Given the description of an element on the screen output the (x, y) to click on. 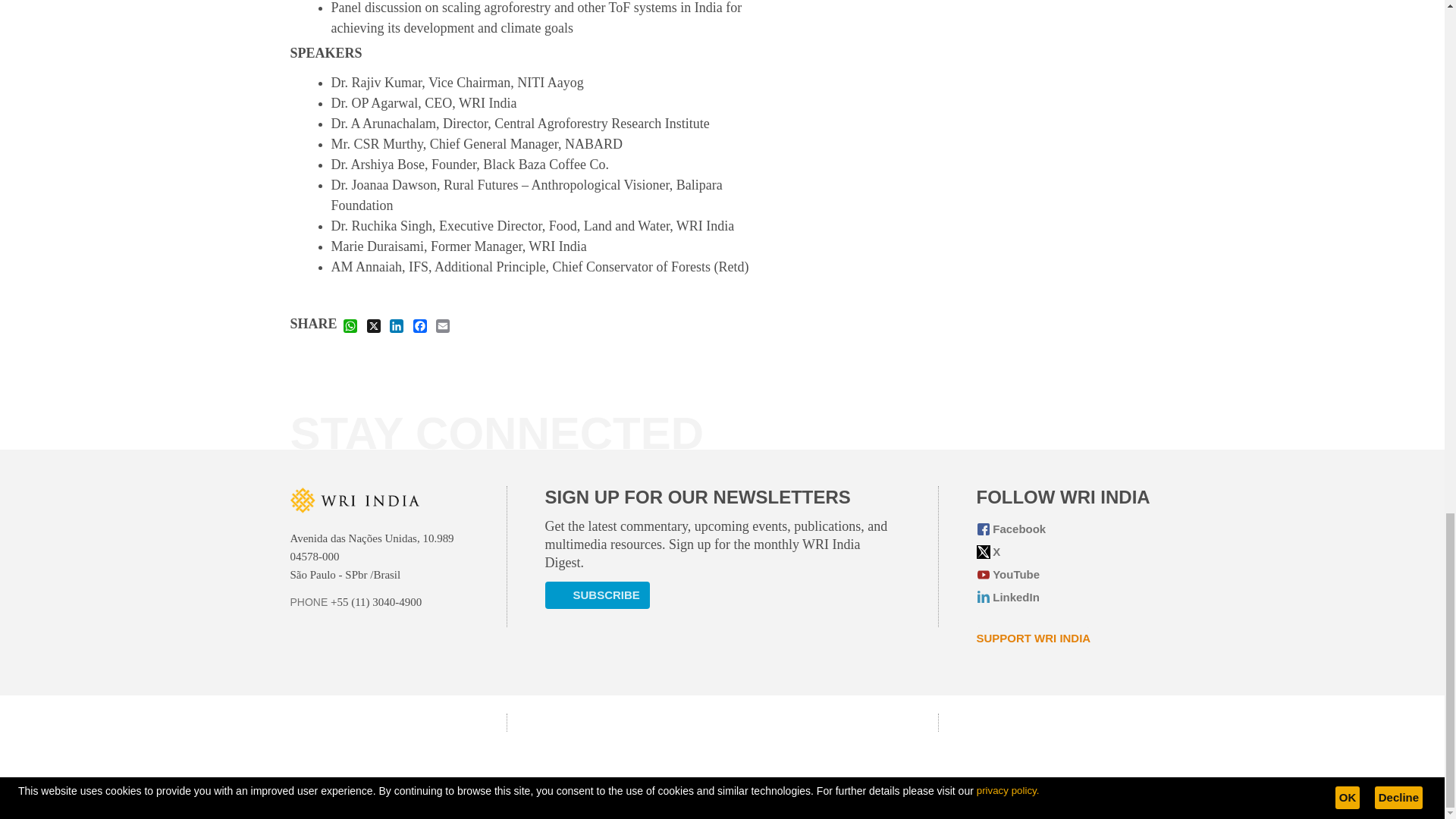
YouTube (1065, 574)
LinkedIn (1065, 597)
SUBSCRIBE (596, 595)
WhatsApp (349, 325)
Facebook (1065, 528)
YouTube (1065, 574)
Twitter (1065, 551)
Email (442, 325)
Facebook (419, 325)
LinkedIn (1065, 597)
